Given the description of an element on the screen output the (x, y) to click on. 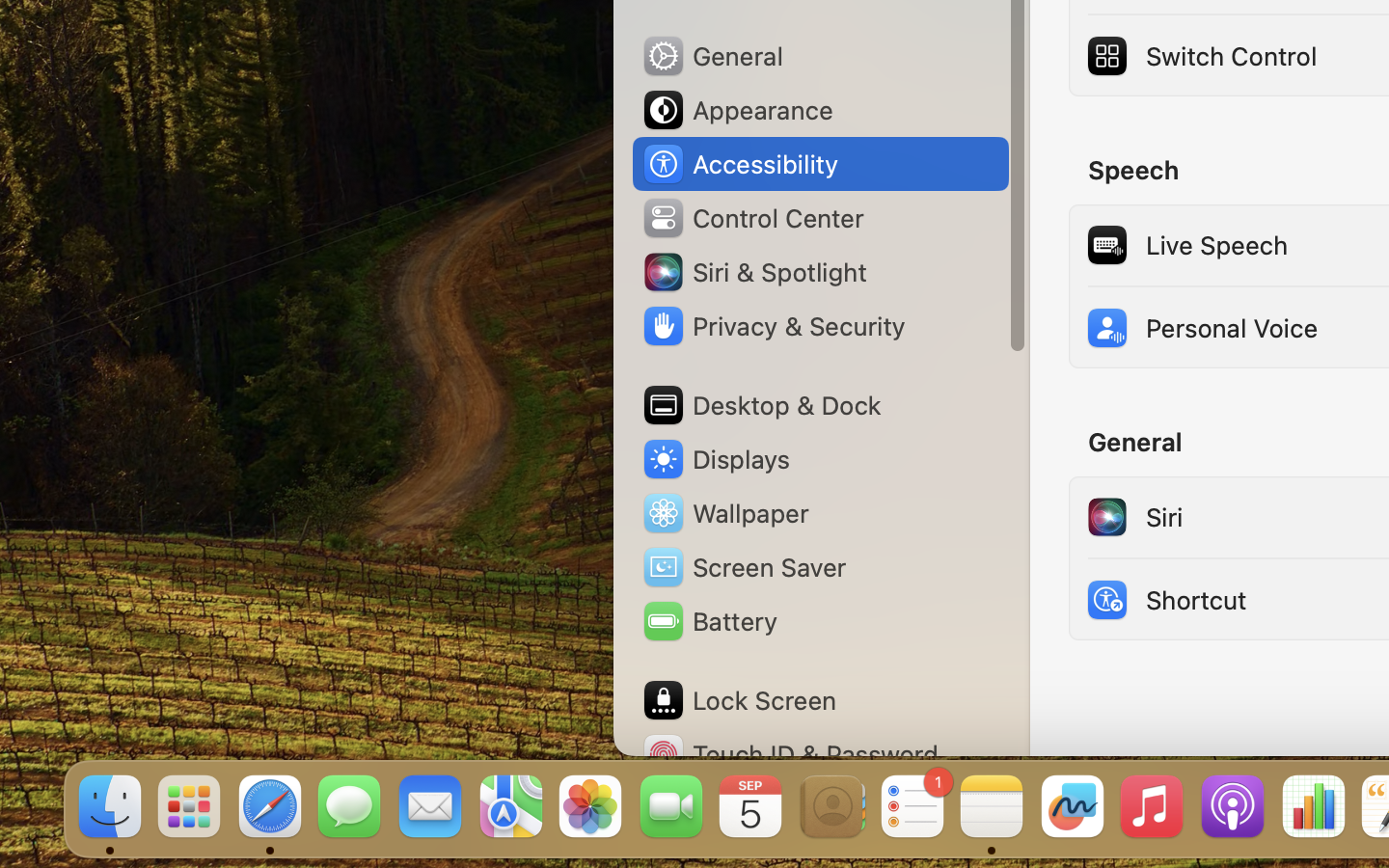
Lock Screen Element type: AXStaticText (738, 700)
Touch ID & Password Element type: AXStaticText (789, 754)
Screen Saver Element type: AXStaticText (743, 566)
Privacy & Security Element type: AXStaticText (772, 325)
Desktop & Dock Element type: AXStaticText (760, 404)
